Given the description of an element on the screen output the (x, y) to click on. 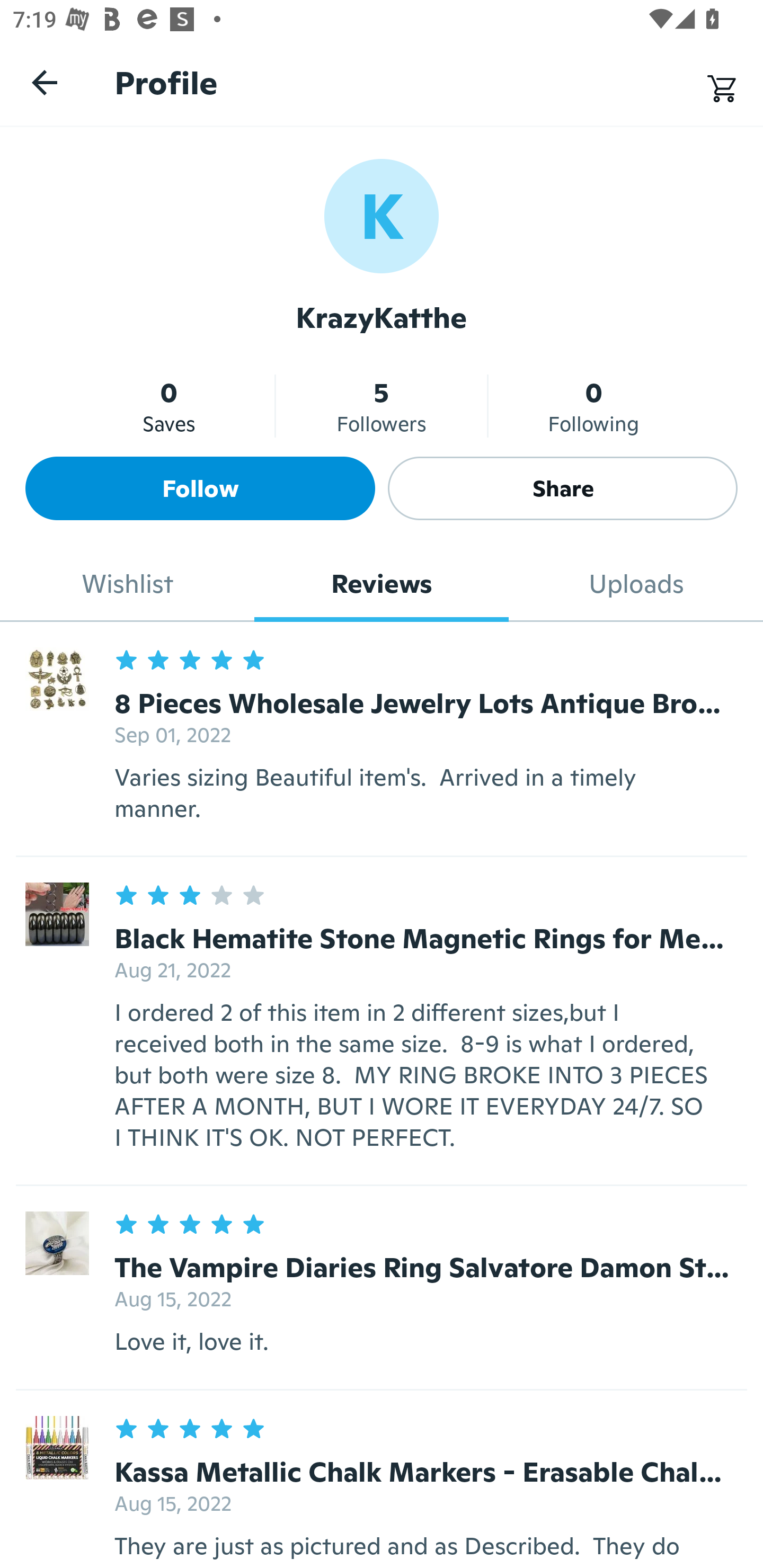
Navigate up (44, 82)
K (381, 215)
5 Followers (381, 405)
0 Following (593, 405)
Follow (200, 488)
Share (562, 488)
Wishlist (127, 583)
Reviews (381, 583)
Uploads (635, 583)
